Given the description of an element on the screen output the (x, y) to click on. 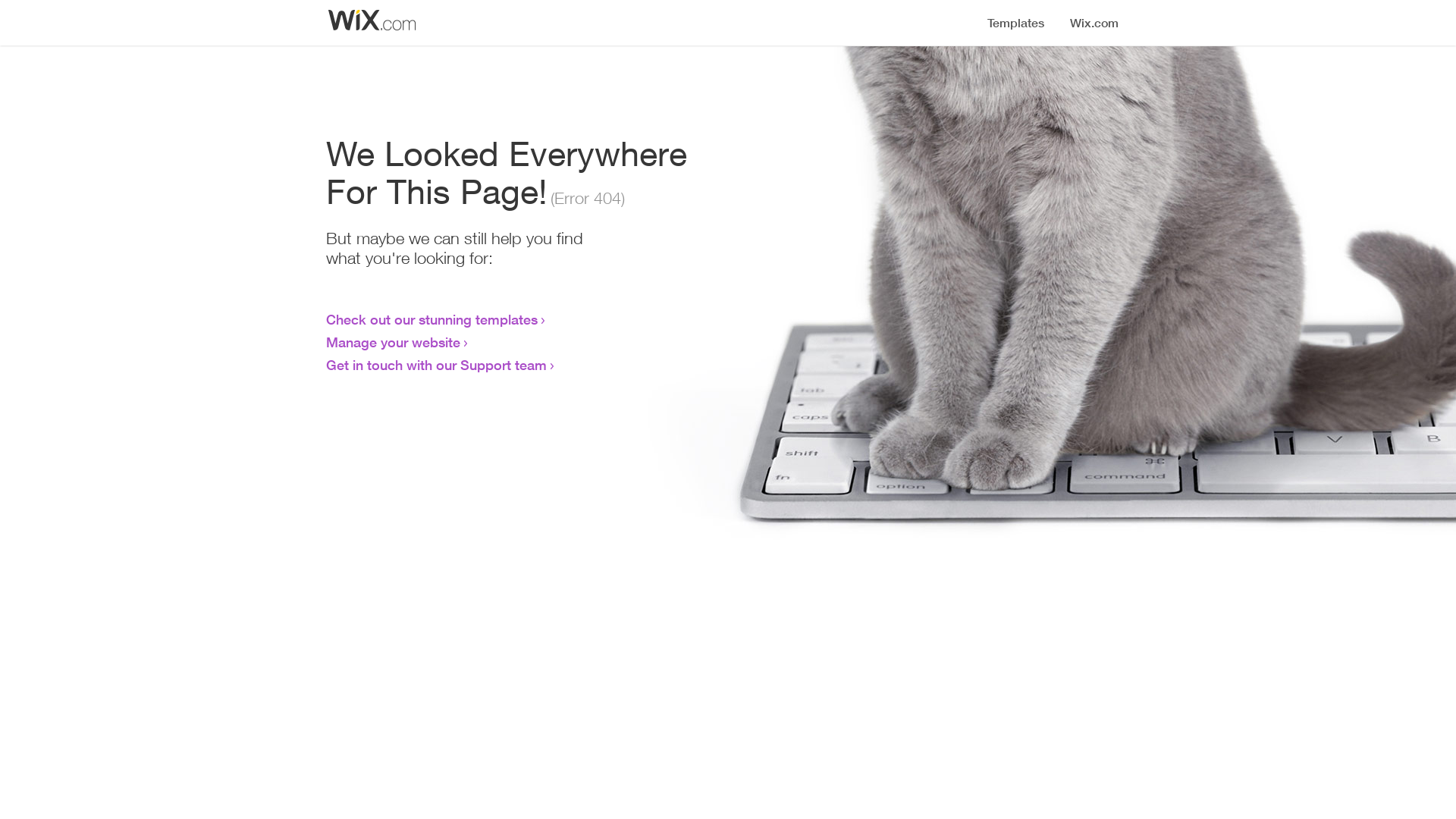
Check out our stunning templates Element type: text (431, 318)
Manage your website Element type: text (393, 341)
Get in touch with our Support team Element type: text (436, 364)
